Given the description of an element on the screen output the (x, y) to click on. 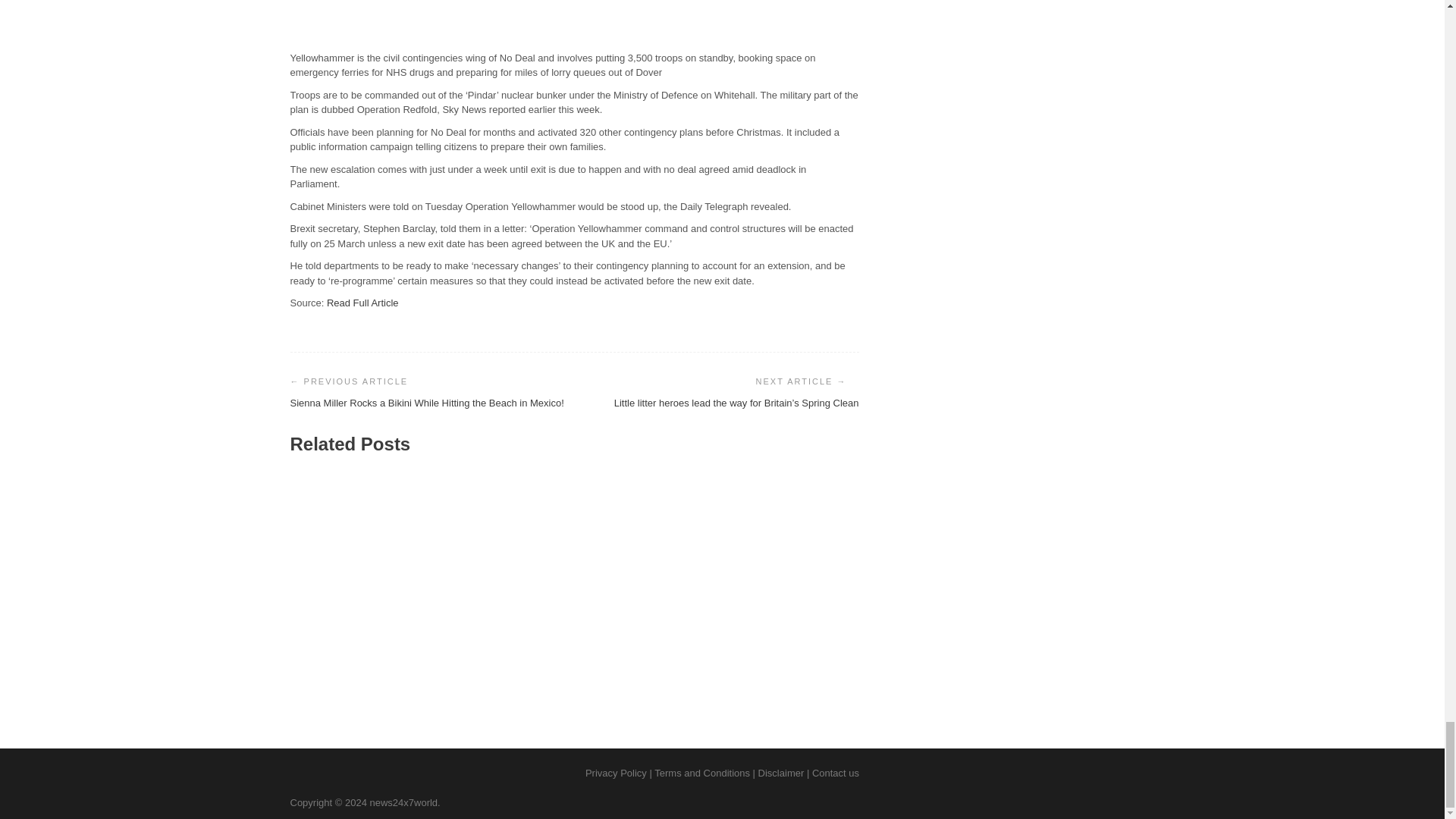
Mediabest (710, 657)
Mediabest (518, 657)
news24x7world (403, 802)
Mediabest (323, 657)
Read Full Article (362, 302)
